Given the description of an element on the screen output the (x, y) to click on. 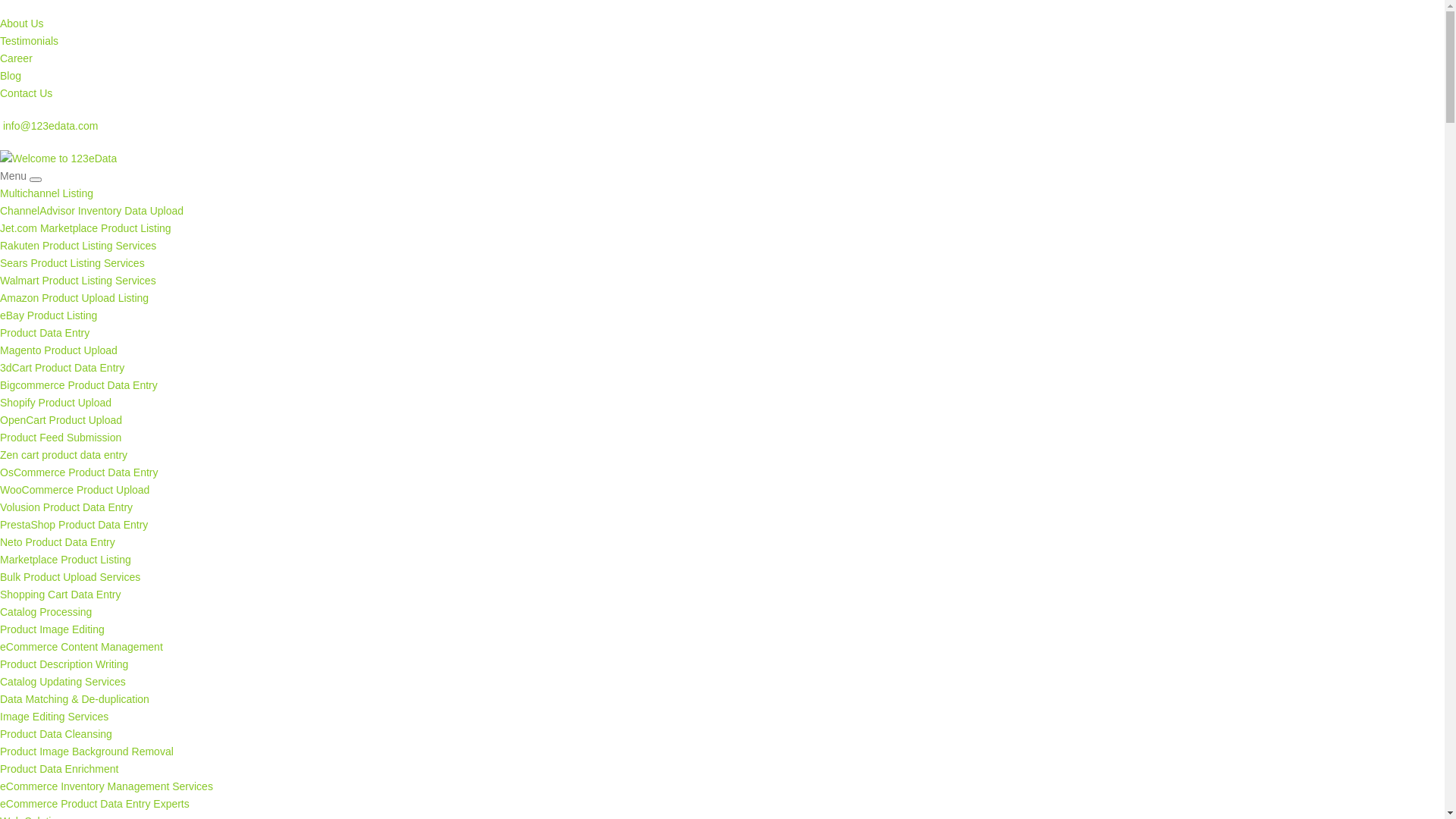
Multichannel Listing Element type: text (46, 193)
Product Data Enrichment Element type: text (59, 768)
Neto Product Data Entry Element type: text (57, 542)
Image Editing Services Element type: text (54, 716)
Product Feed Submission Element type: text (60, 437)
PrestaShop Product Data Entry Element type: text (73, 524)
Shopify Product Upload Element type: text (55, 402)
info@123edata.com Element type: text (48, 125)
eCommerce Content Management Element type: text (81, 646)
Product Data Cleansing Element type: text (56, 734)
3dCart Product Data Entry Element type: text (62, 367)
ChannelAdvisor Inventory Data Upload Element type: text (91, 210)
Magento Product Upload Element type: text (58, 350)
Career Element type: text (16, 58)
Marketplace Product Listing Element type: text (65, 559)
Product Image Editing Element type: text (52, 629)
Zen cart product data entry Element type: text (63, 454)
eBay Product Listing Element type: text (48, 315)
Testimonials Element type: text (29, 40)
Volusion Product Data Entry Element type: text (66, 507)
Catalog Processing Element type: text (45, 611)
Amazon Product Upload Listing Element type: text (74, 297)
About Us Element type: text (21, 23)
Product Description Writing Element type: text (64, 664)
Data Matching & De-duplication Element type: text (74, 699)
OpenCart Product Upload Element type: text (61, 420)
Bigcommerce Product Data Entry Element type: text (78, 385)
Sears Product Listing Services Element type: text (72, 263)
Product Data Entry Element type: text (44, 332)
WooCommerce Product Upload Element type: text (74, 489)
Walmart Product Listing Services Element type: text (78, 280)
Blog Element type: text (10, 75)
OsCommerce Product Data Entry Element type: text (79, 472)
Bulk Product Upload Services Element type: text (70, 577)
Rakuten Product Listing Services Element type: text (78, 245)
eCommerce Inventory Management Services Element type: text (106, 786)
Product Image Background Removal Element type: text (86, 751)
Contact Us Element type: text (26, 93)
Catalog Updating Services Element type: text (62, 681)
Shopping Cart Data Entry Element type: text (60, 594)
Jet.com Marketplace Product Listing Element type: text (85, 228)
eCommerce Product Data Entry Experts Element type: text (94, 803)
